Given the description of an element on the screen output the (x, y) to click on. 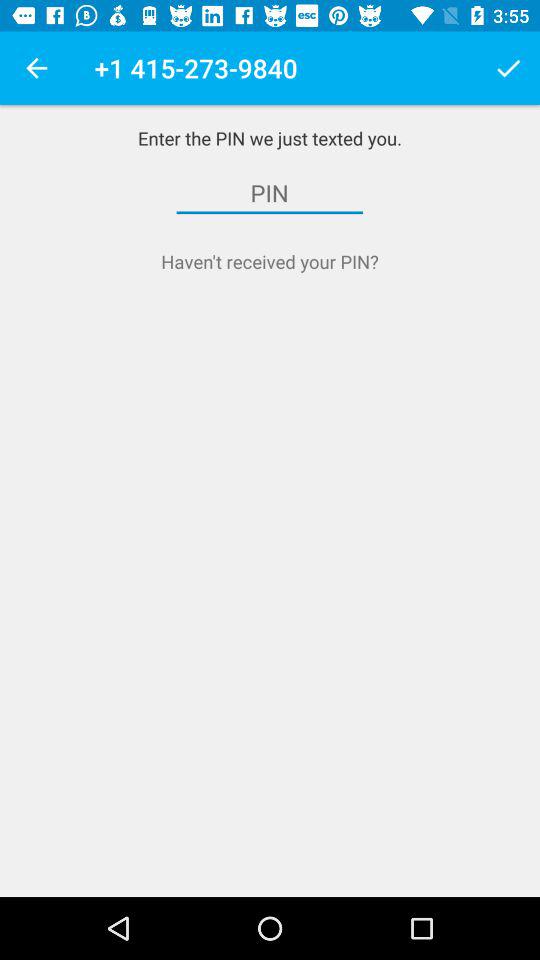
tap item above the haven t received item (269, 193)
